Given the description of an element on the screen output the (x, y) to click on. 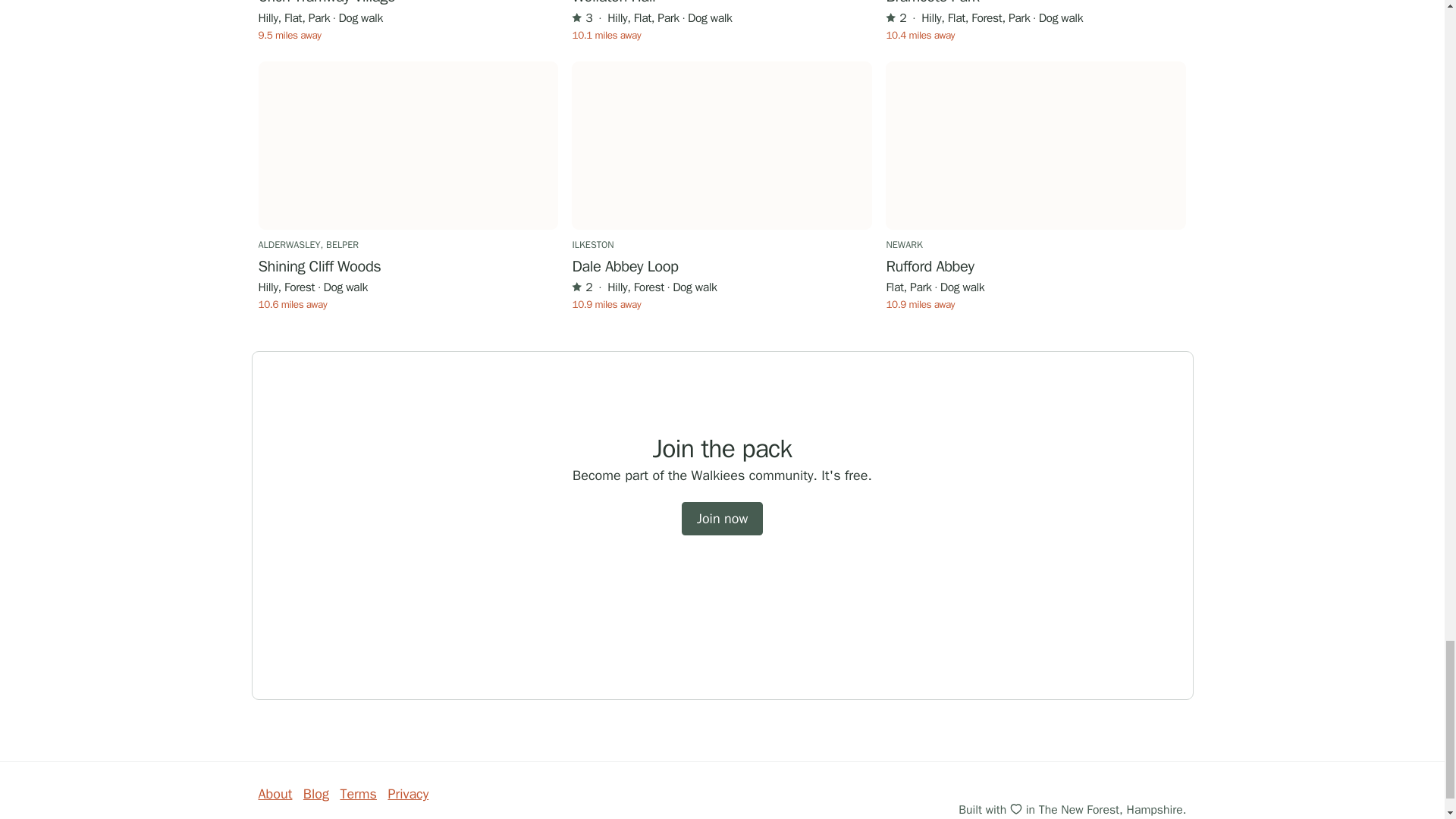
Dog walk at Dale Abbey Loop (722, 145)
Dog walk at Shining Cliff Woods (407, 145)
